Given the description of an element on the screen output the (x, y) to click on. 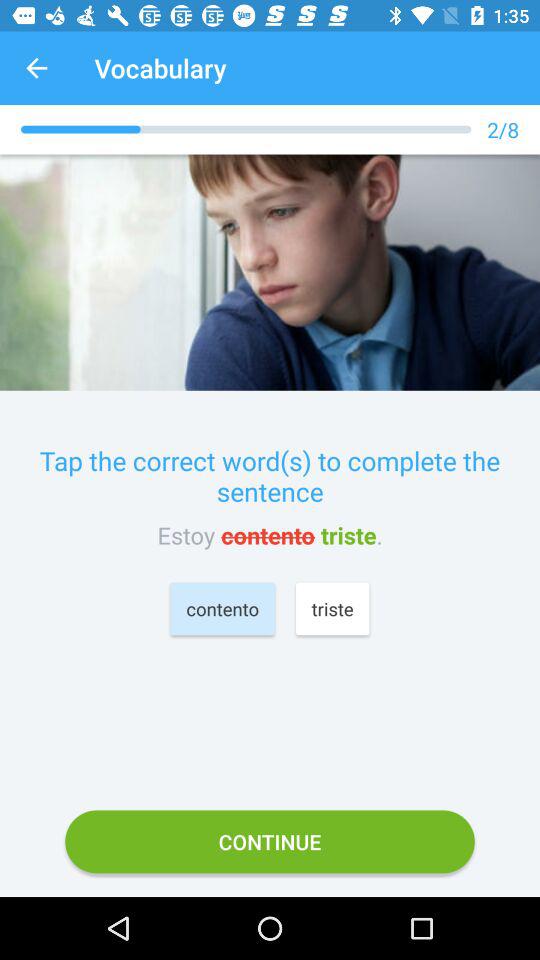
open continue icon (269, 841)
